Given the description of an element on the screen output the (x, y) to click on. 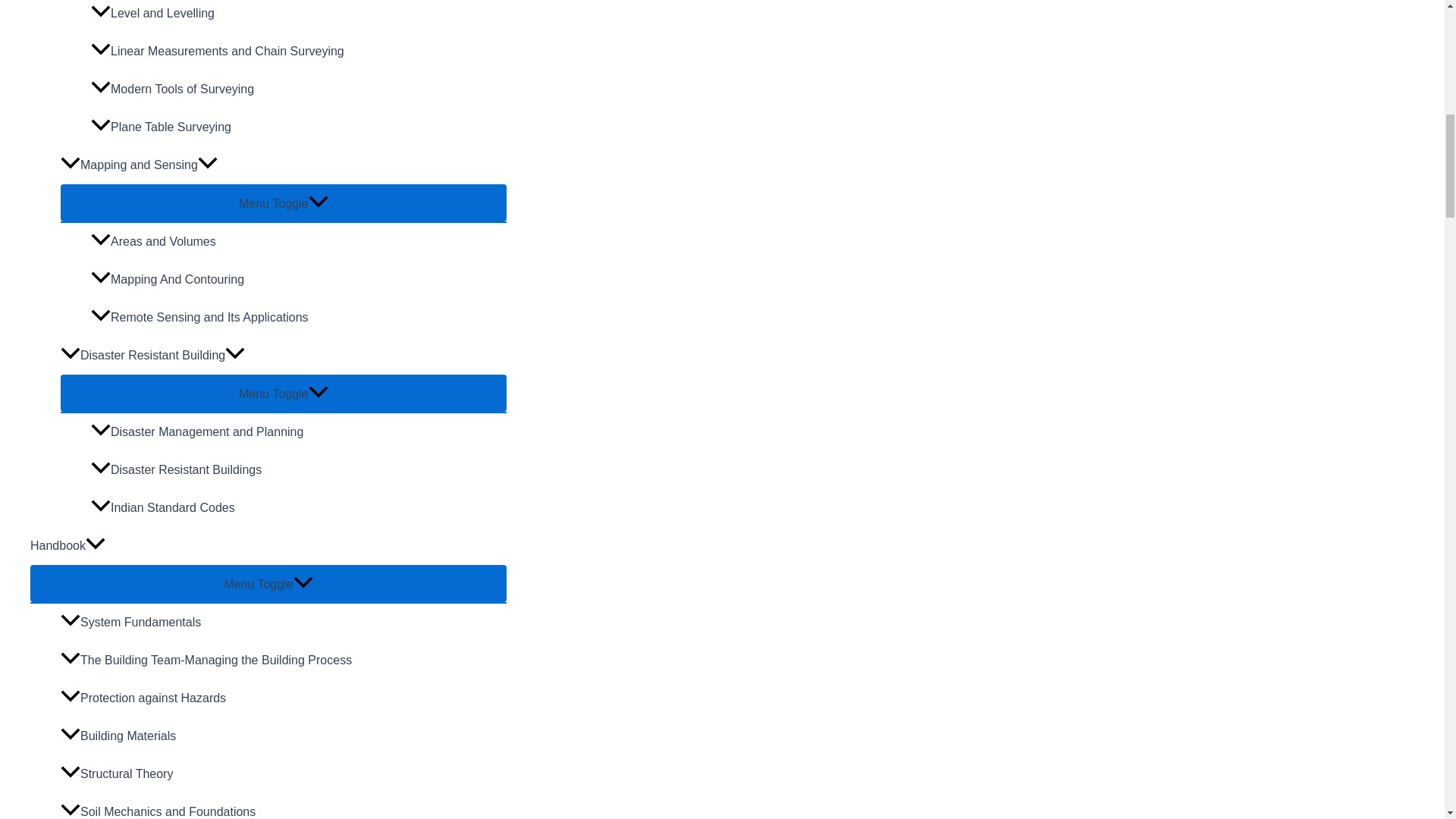
Handbook (268, 546)
The Building Team-Managing the Building Process (283, 660)
Remote Sensing and Its Applications (298, 317)
Modern Tools of Surveying (298, 89)
Plane Table Surveying (298, 127)
Disaster Resistant Buildings (298, 469)
Disaster Management and Planning (298, 432)
Areas and Volumes (298, 241)
Menu Toggle (283, 392)
Mapping and Sensing (283, 165)
